Given the description of an element on the screen output the (x, y) to click on. 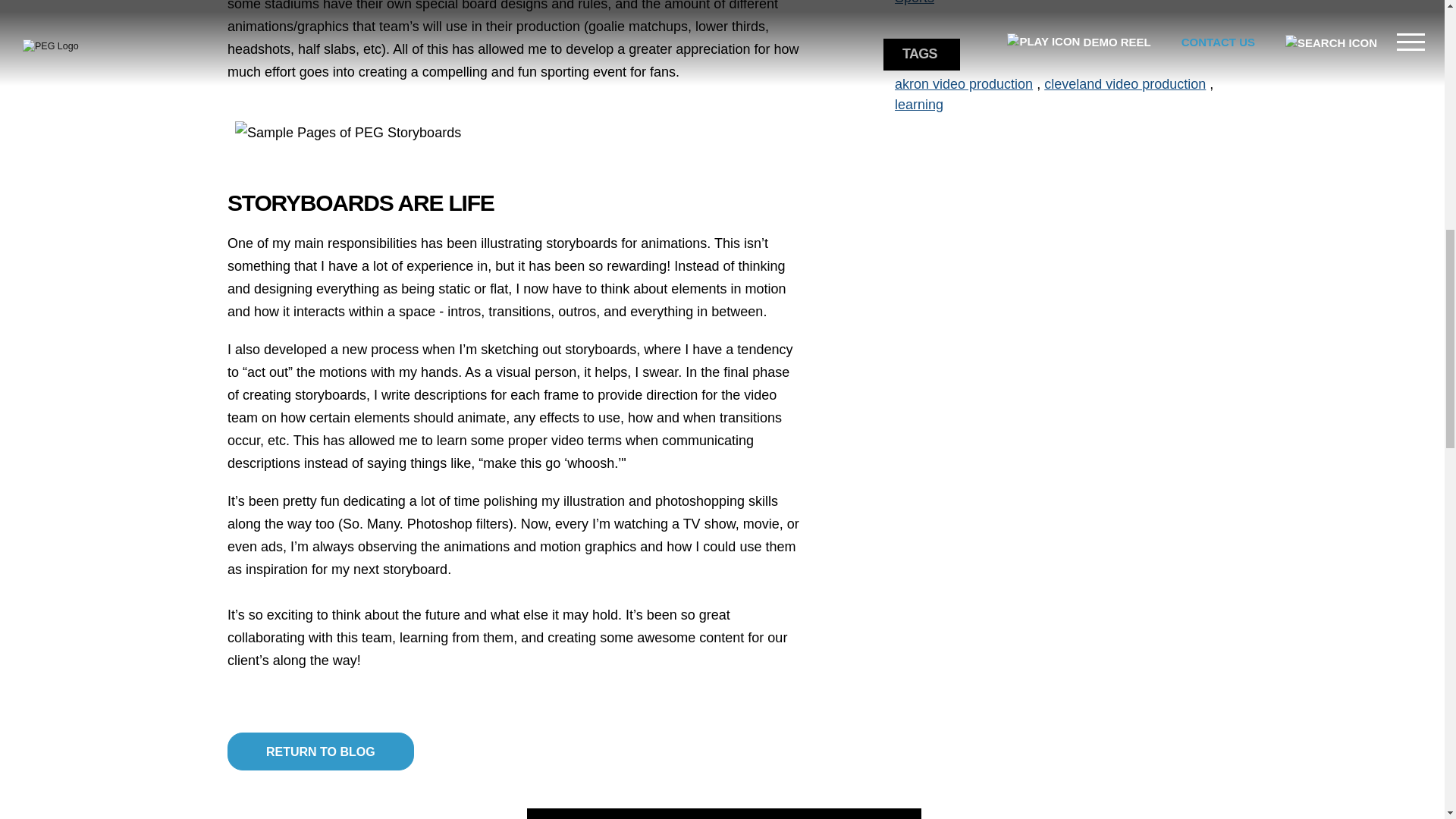
Category: Sports (914, 2)
RETURN TO BLOG (320, 751)
